Given the description of an element on the screen output the (x, y) to click on. 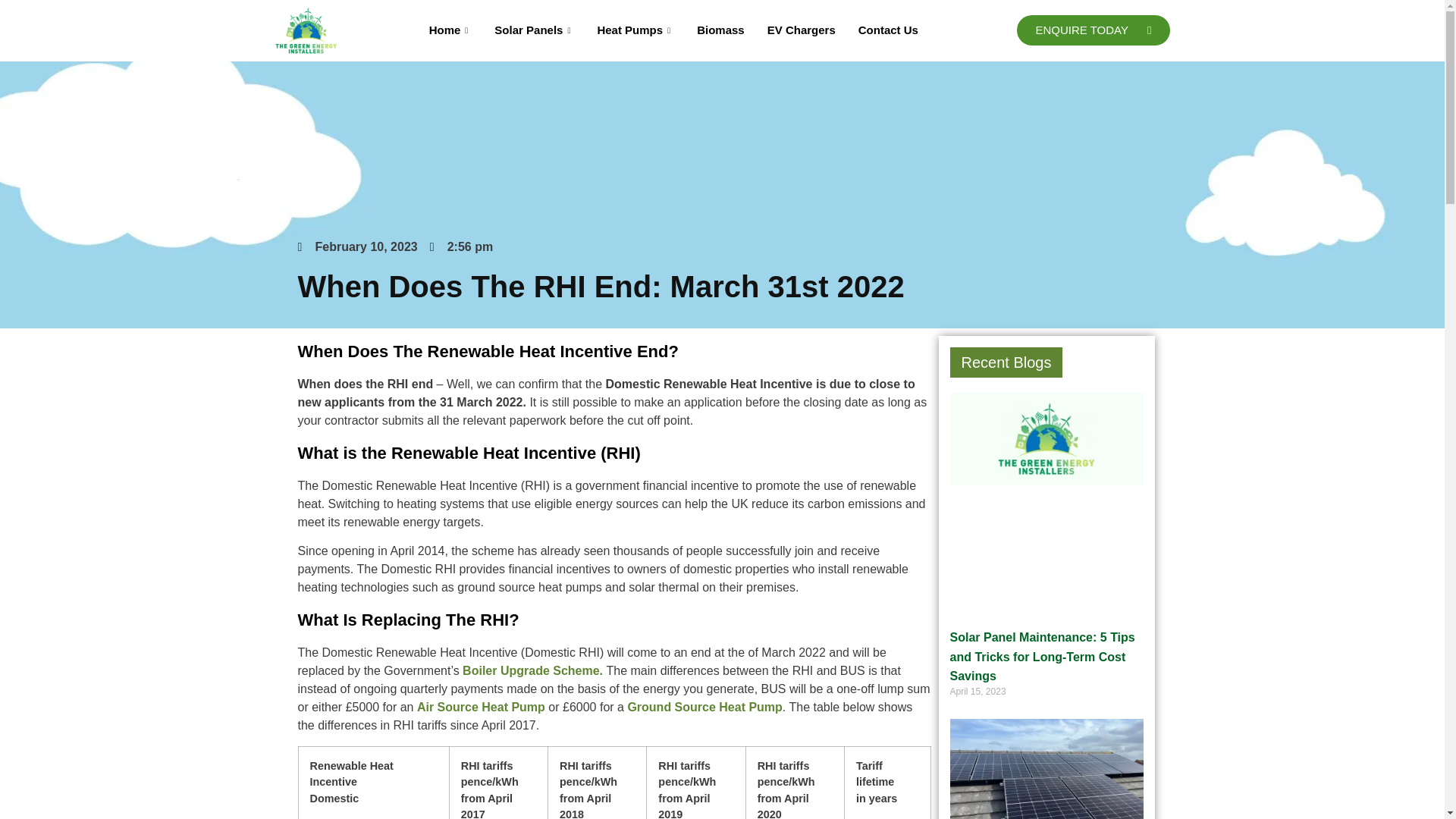
Contact Us (888, 30)
February 10, 2023 (356, 247)
Solar Panels (534, 30)
Boiler Upgrade Scheme. (532, 670)
Ground Source Heat Pump (704, 707)
Home (450, 30)
Air Source Heat Pump (480, 707)
EV Chargers (801, 30)
Biomass (720, 30)
ENQUIRE TODAY (1092, 30)
Heat Pumps (635, 30)
